Given the description of an element on the screen output the (x, y) to click on. 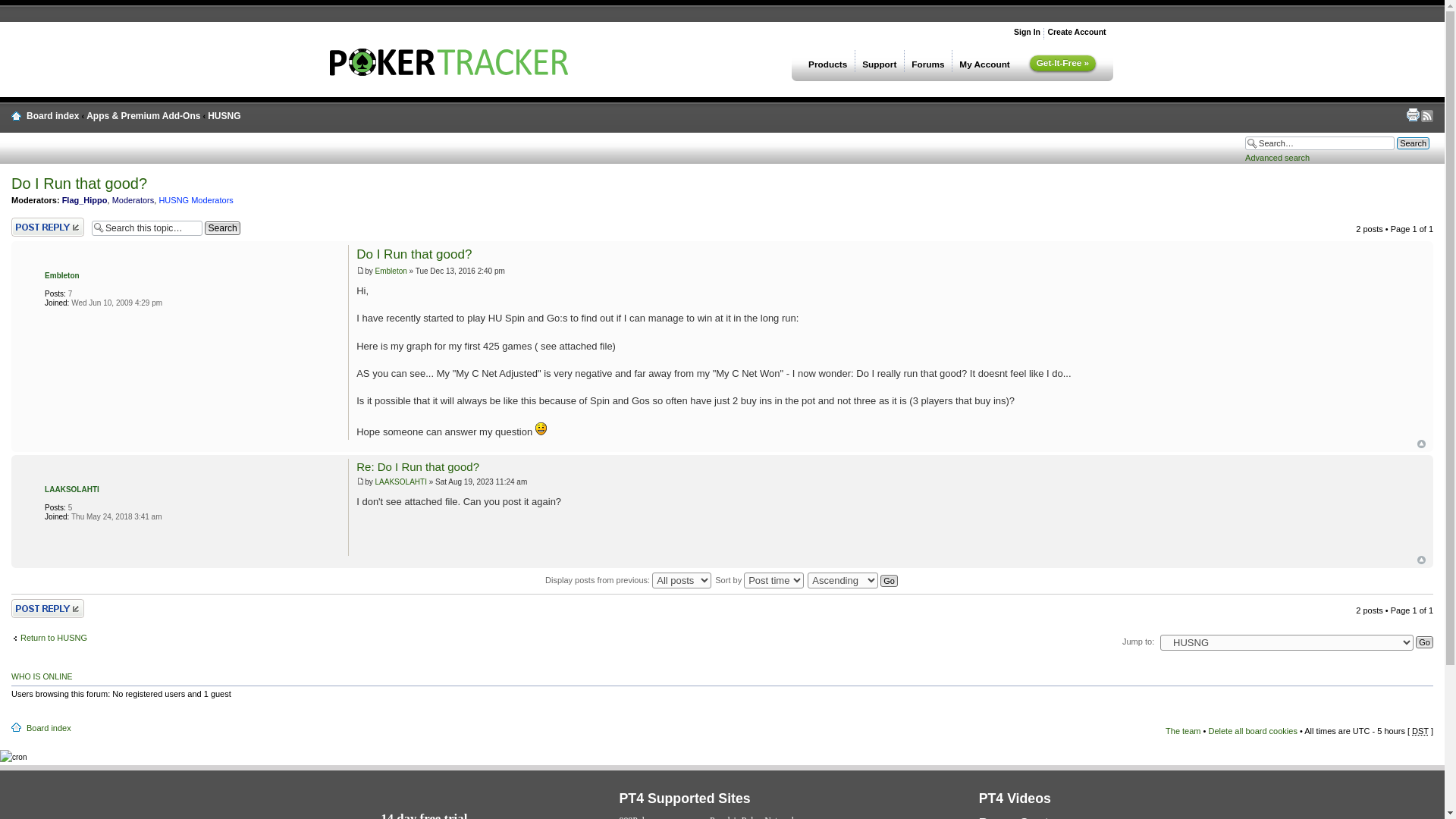
Search (222, 228)
Board index (52, 115)
Advanced search (1276, 157)
Return to HUSNG (49, 637)
Top (1420, 443)
Print view (1413, 114)
Sign In (1027, 31)
LAAKSOLAHTI (72, 489)
Post a reply (47, 608)
Do I Run that good? (413, 254)
Re: Do I Run that good? (417, 466)
HUSNG Moderators (195, 199)
Print view (1413, 114)
My Account (983, 60)
Post a reply (47, 226)
